Given the description of an element on the screen output the (x, y) to click on. 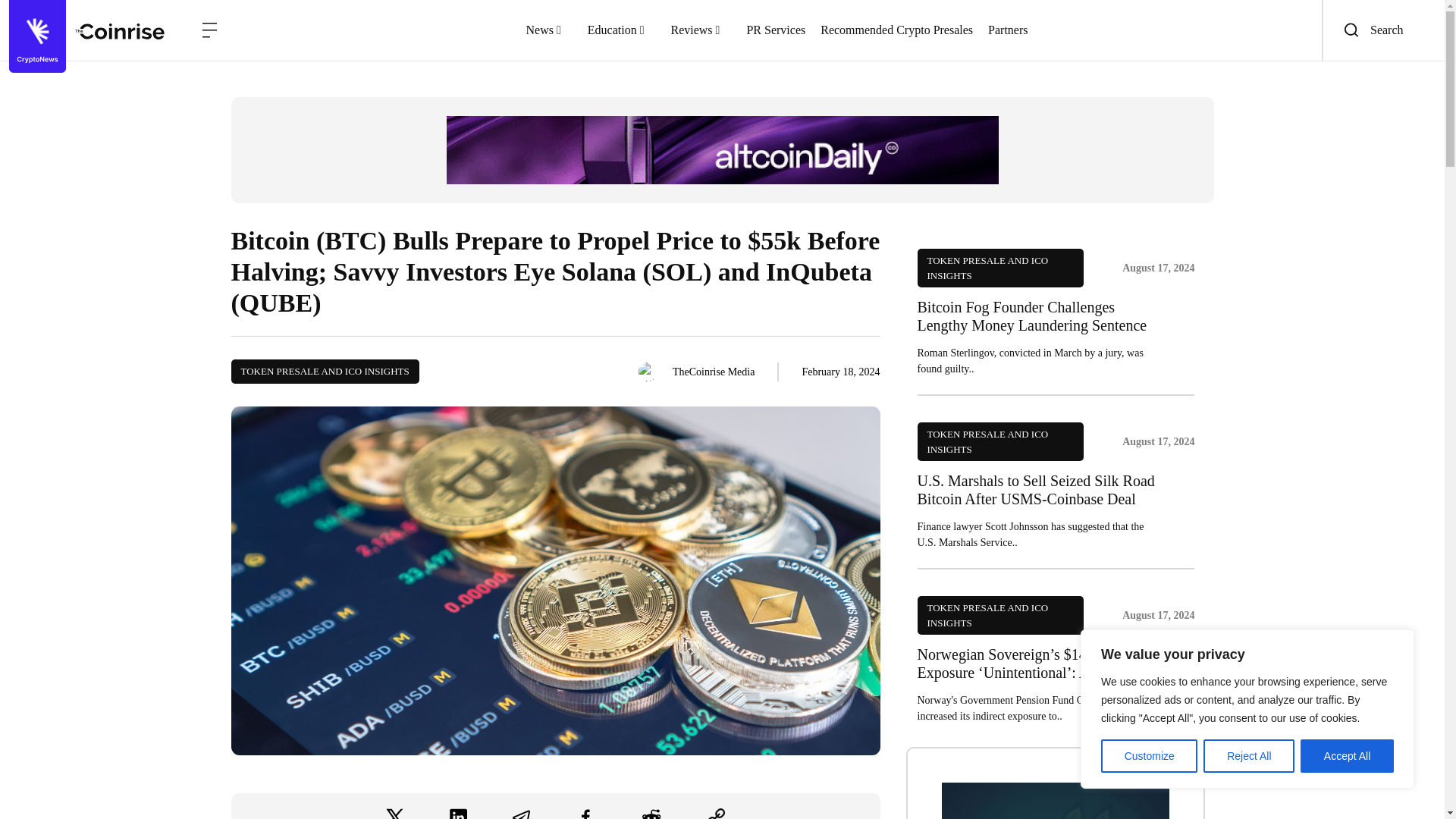
News (548, 29)
Reject All (1249, 756)
Education (622, 29)
Reviews (699, 29)
Customize (1148, 756)
Accept All (1346, 756)
